Given the description of an element on the screen output the (x, y) to click on. 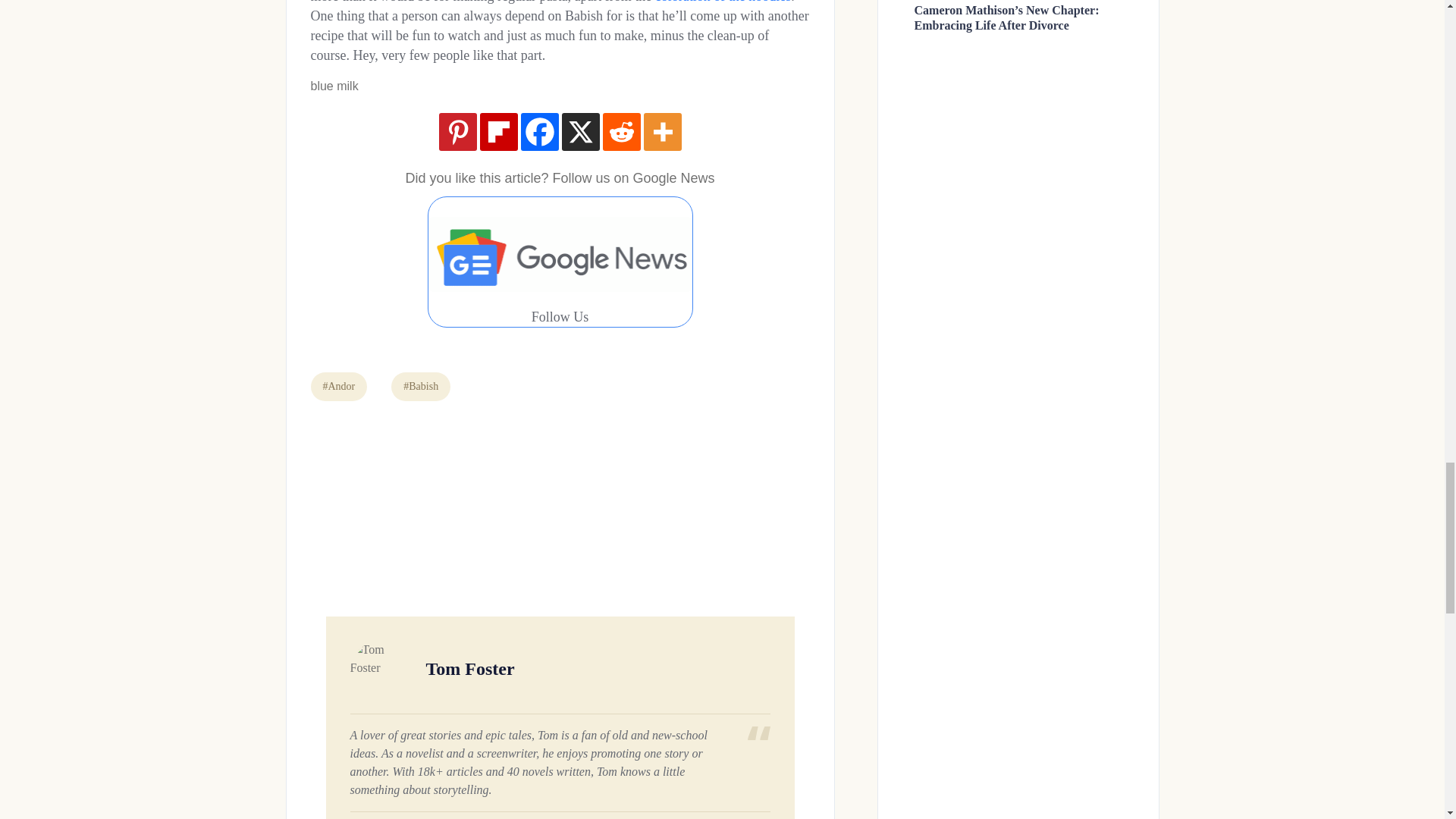
Flipboard (497, 131)
Facebook (538, 131)
Reddit (621, 131)
X (579, 131)
More (662, 131)
Pinterest (457, 131)
